Given the description of an element on the screen output the (x, y) to click on. 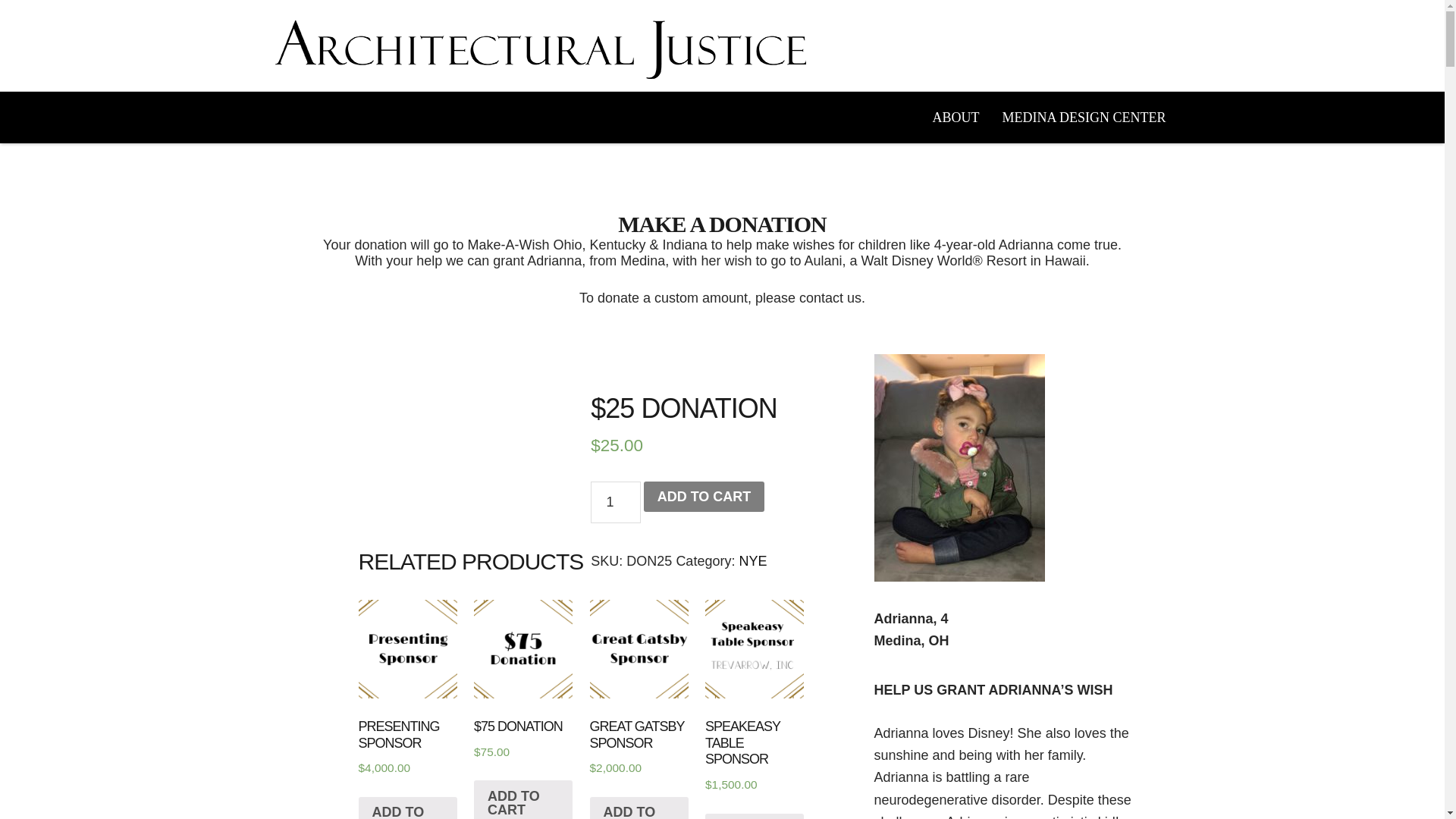
NYE (752, 560)
ADD TO CART (638, 807)
ADD TO CART (407, 807)
READ MORE (753, 816)
Architectural Justice (540, 49)
1 (615, 502)
ADD TO CART (704, 496)
MEDINA DESIGN CENTER (1083, 117)
ADD TO CART (523, 799)
